Given the description of an element on the screen output the (x, y) to click on. 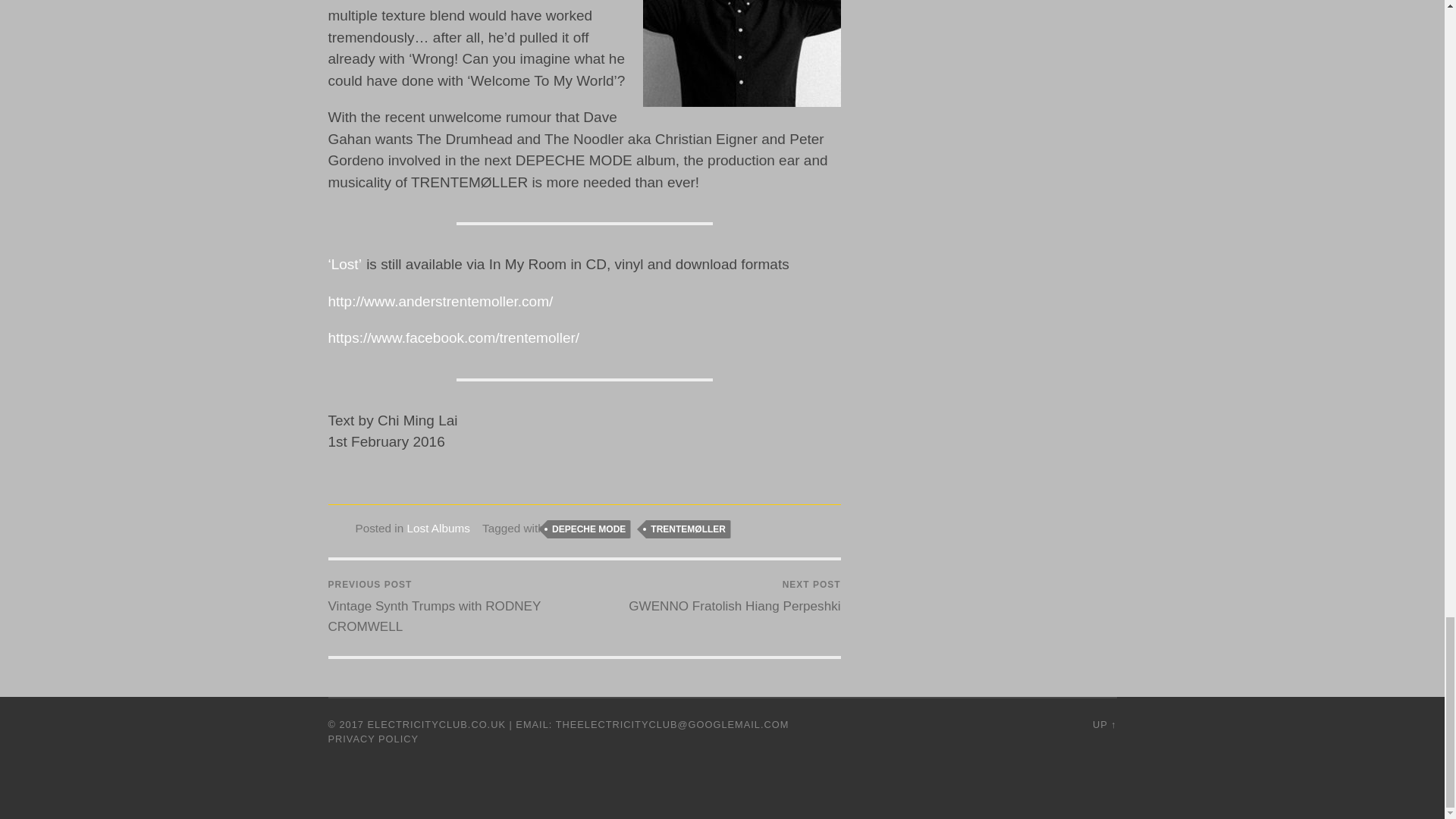
ELECTRICITYCLUB.CO.UK (436, 724)
Previous post: Vintage Synth Trumps with RODNEY CROMWELL (452, 607)
To the top (1104, 724)
Next post: GWENNO Fratolish Hiang Perpeshki (734, 597)
